Given the description of an element on the screen output the (x, y) to click on. 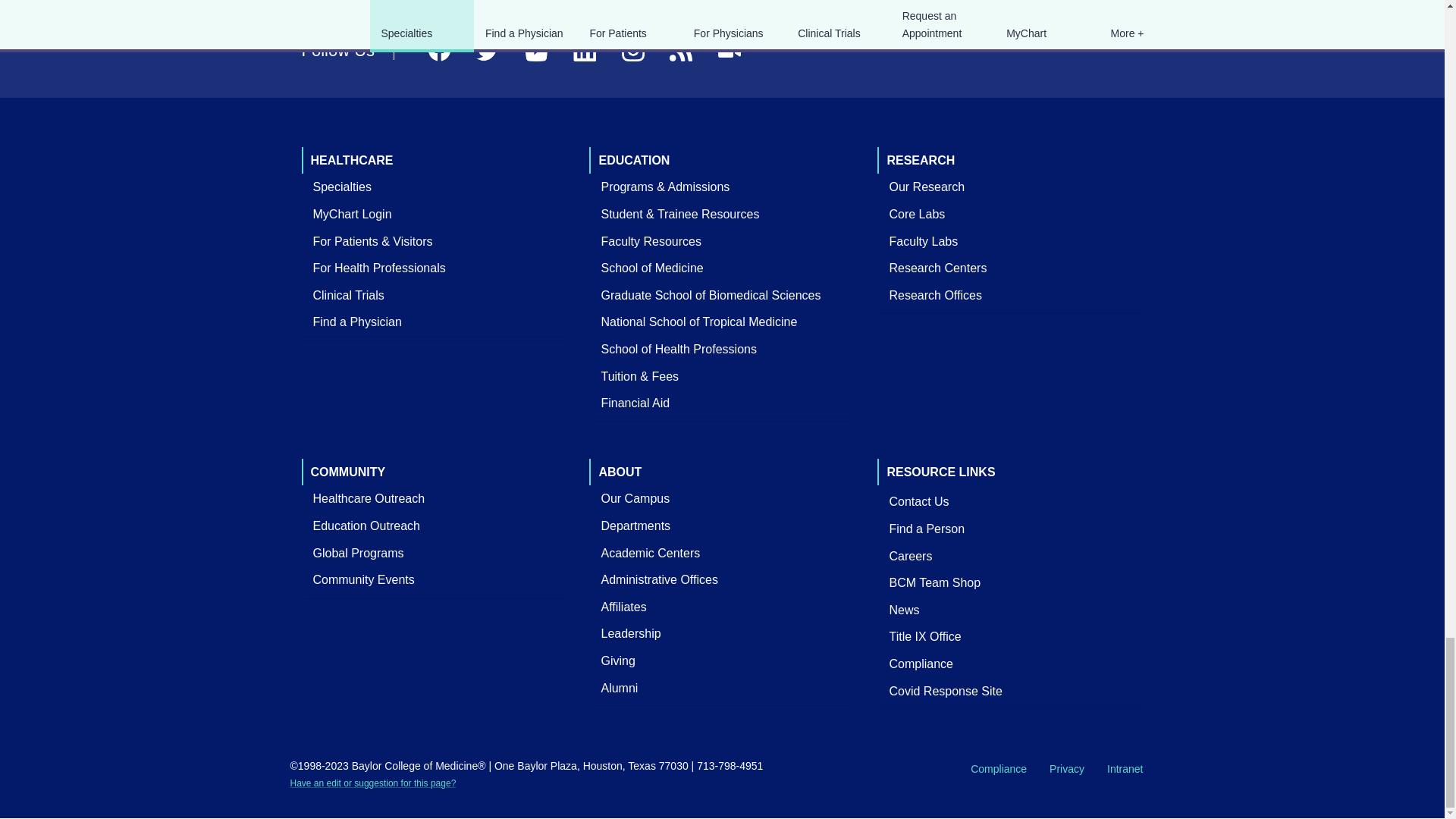
Web Request (372, 783)
Title IX and Gender Discrimination (924, 636)
Compliance (920, 663)
Covid Response Site (945, 689)
